Given the description of an element on the screen output the (x, y) to click on. 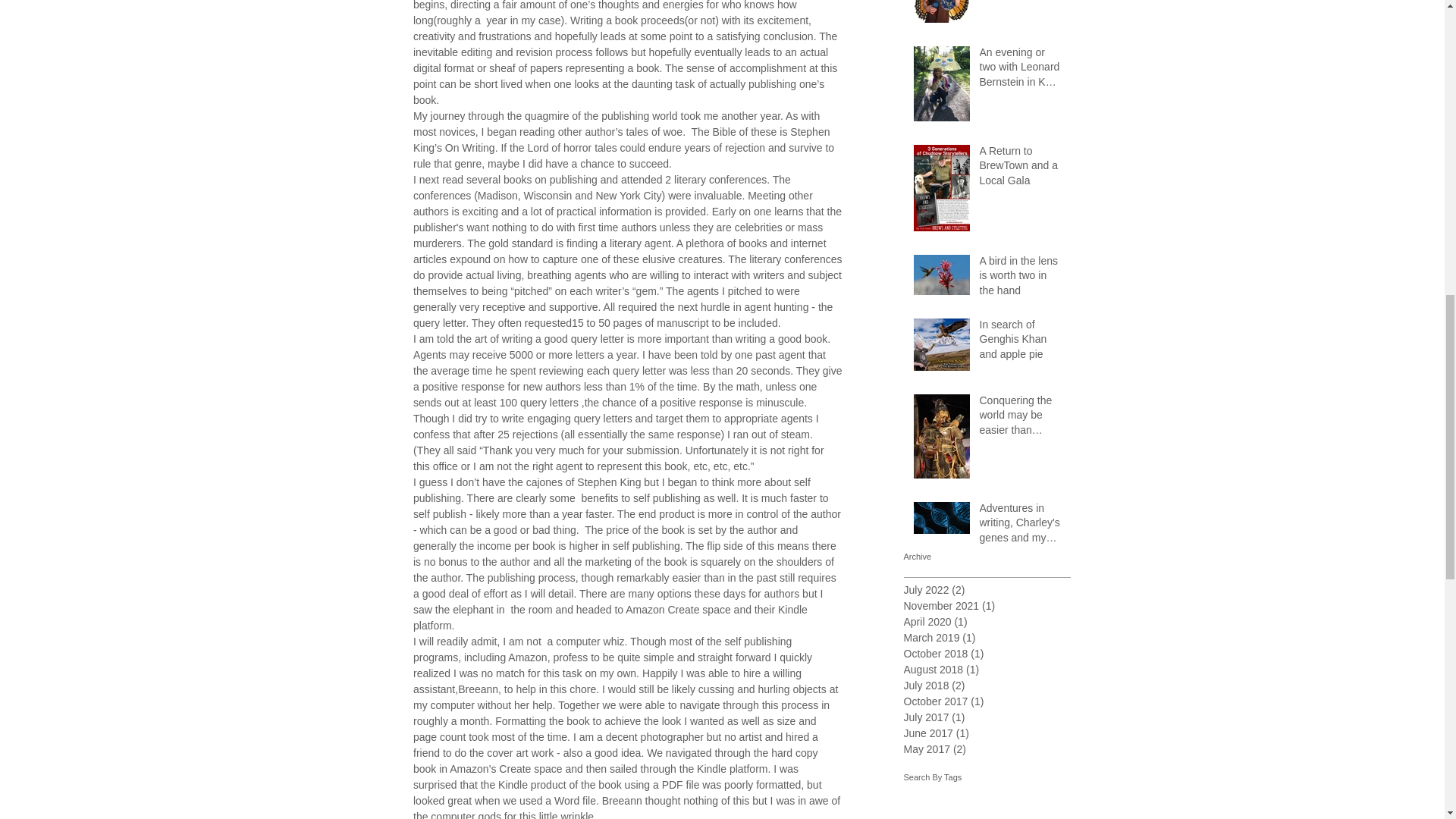
Adventures in writing, Charley's genes and my first review (1020, 526)
In search of Genghis Khan and apple pie (1020, 342)
A Return to BrewTown and a Local Gala (1020, 169)
An evening or two with Leonard Bernstein in Key West (1020, 70)
A bird in the lens is worth two in the hand (1020, 278)
